Given the description of an element on the screen output the (x, y) to click on. 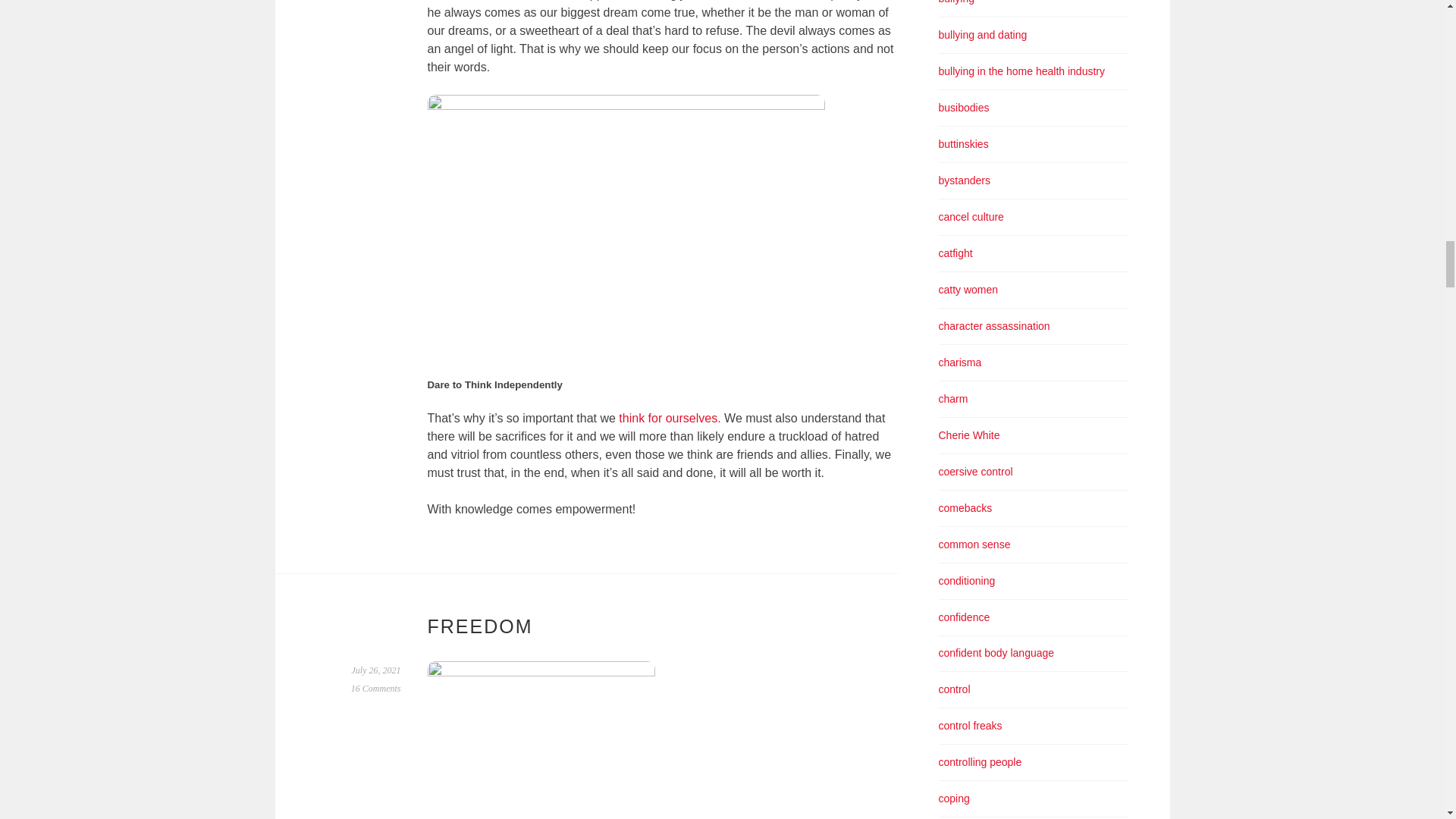
16 Comments (375, 688)
Permalink to Freedom (376, 670)
July 26, 2021 (376, 670)
FREEDOM (480, 626)
think for ourselves. (669, 418)
